Given the description of an element on the screen output the (x, y) to click on. 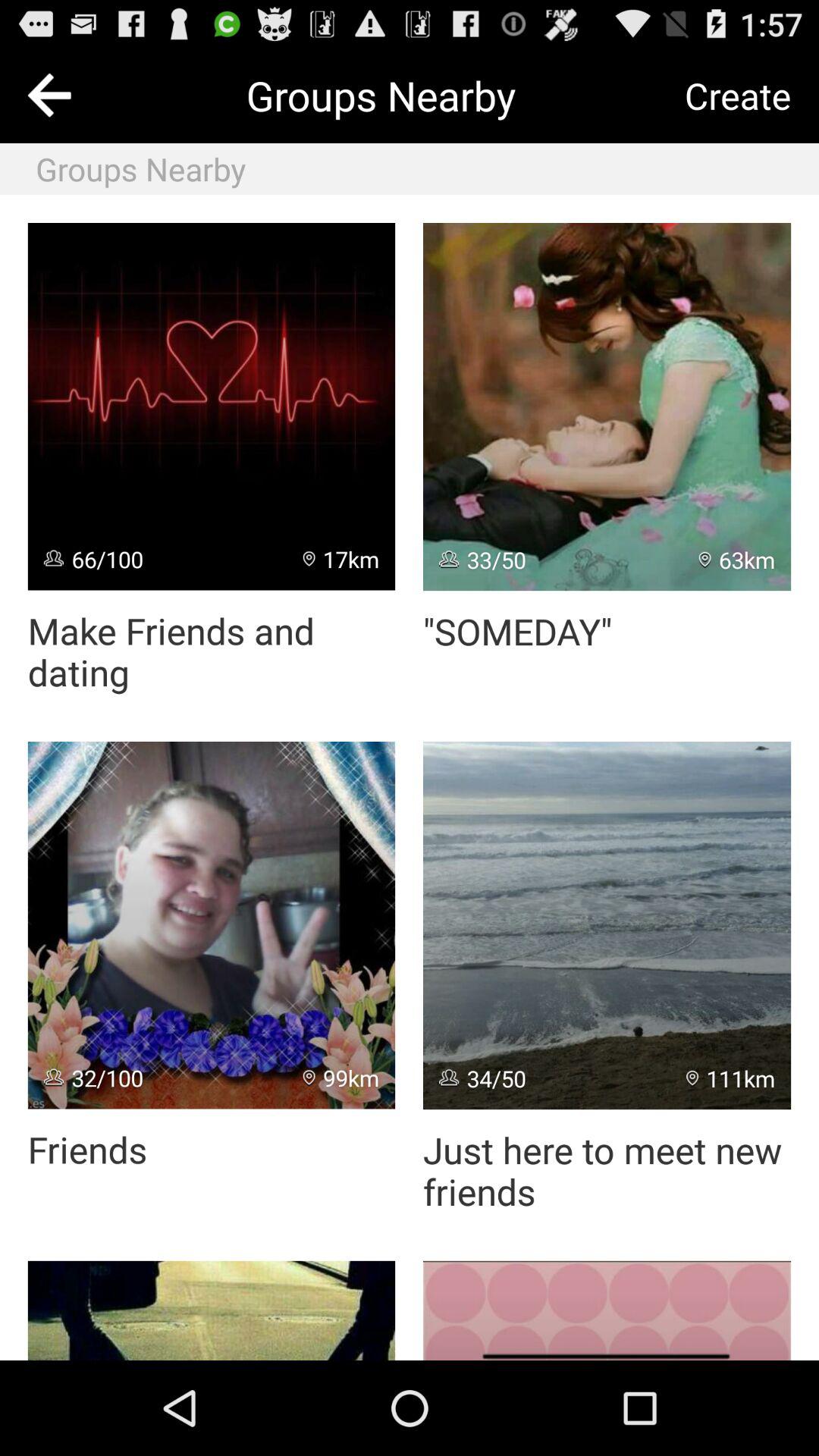
choose 63km icon (736, 559)
